Given the description of an element on the screen output the (x, y) to click on. 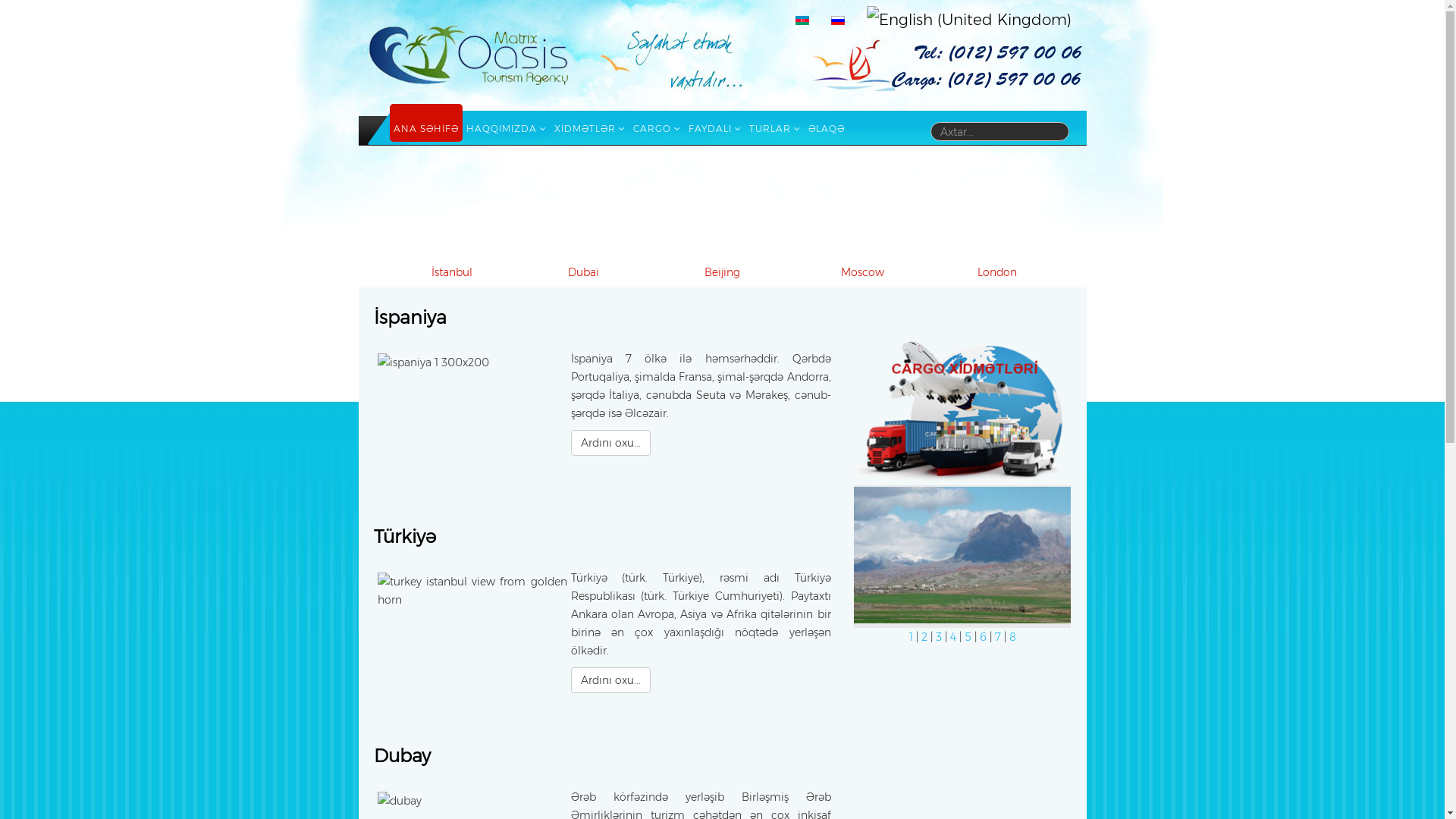
Dubay Element type: text (401, 755)
2 Element type: text (924, 636)
English (United Kingdom) Element type: hover (968, 19)
Azerbaijan (az-AZ) Element type: hover (801, 20)
4 Element type: text (953, 636)
Russian (Russia) Element type: hover (837, 20)
6 Element type: text (982, 636)
1 Element type: text (911, 636)
5 Element type: text (967, 636)
8 Element type: text (1012, 636)
HAQQIMIZDA Element type: text (506, 122)
7 Element type: text (997, 636)
3 Element type: text (938, 636)
CARGO Element type: text (656, 122)
FAYDALI Element type: text (714, 122)
TURLAR Element type: text (773, 122)
